Given the description of an element on the screen output the (x, y) to click on. 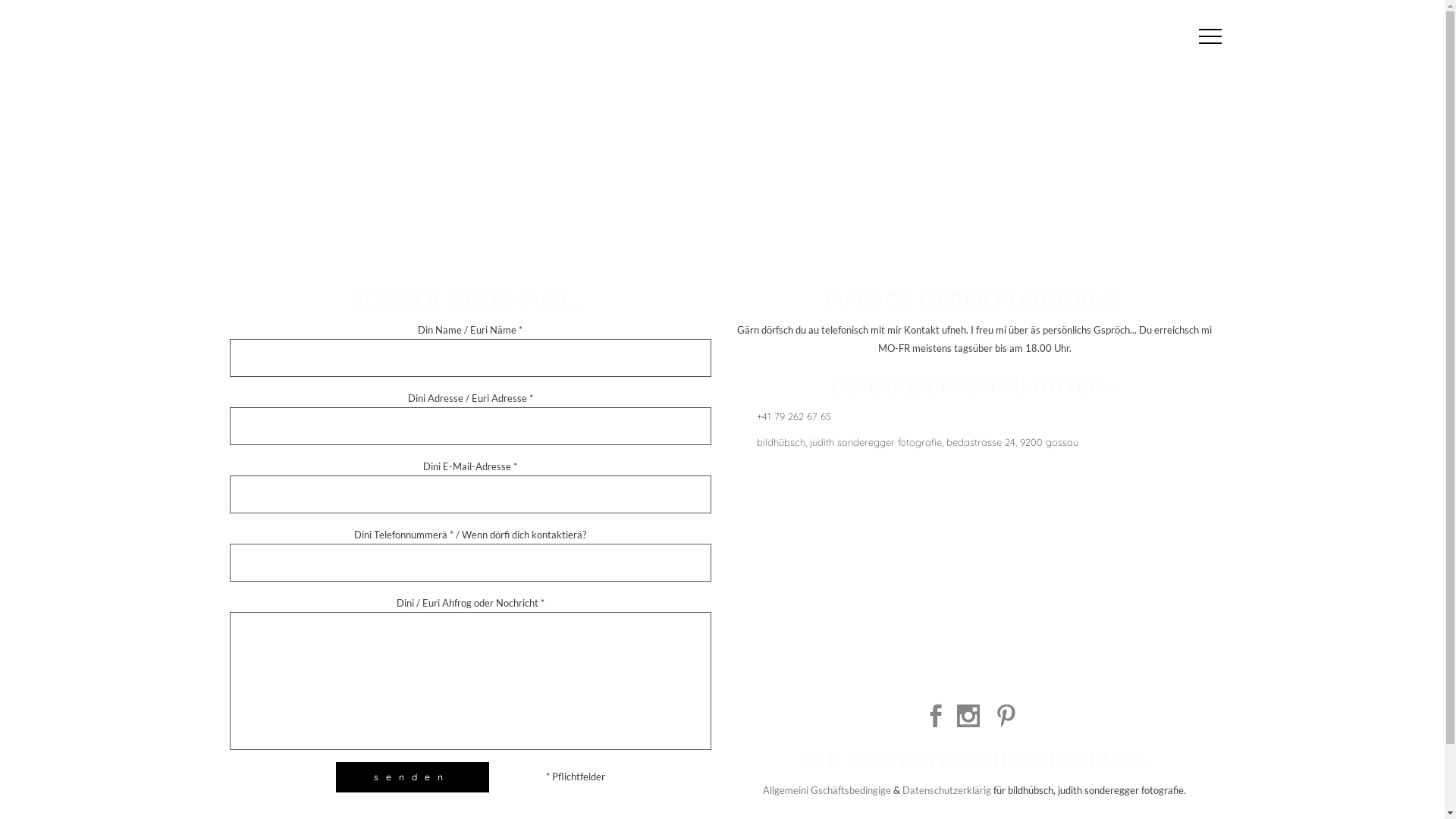
senden Element type: text (411, 777)
